Given the description of an element on the screen output the (x, y) to click on. 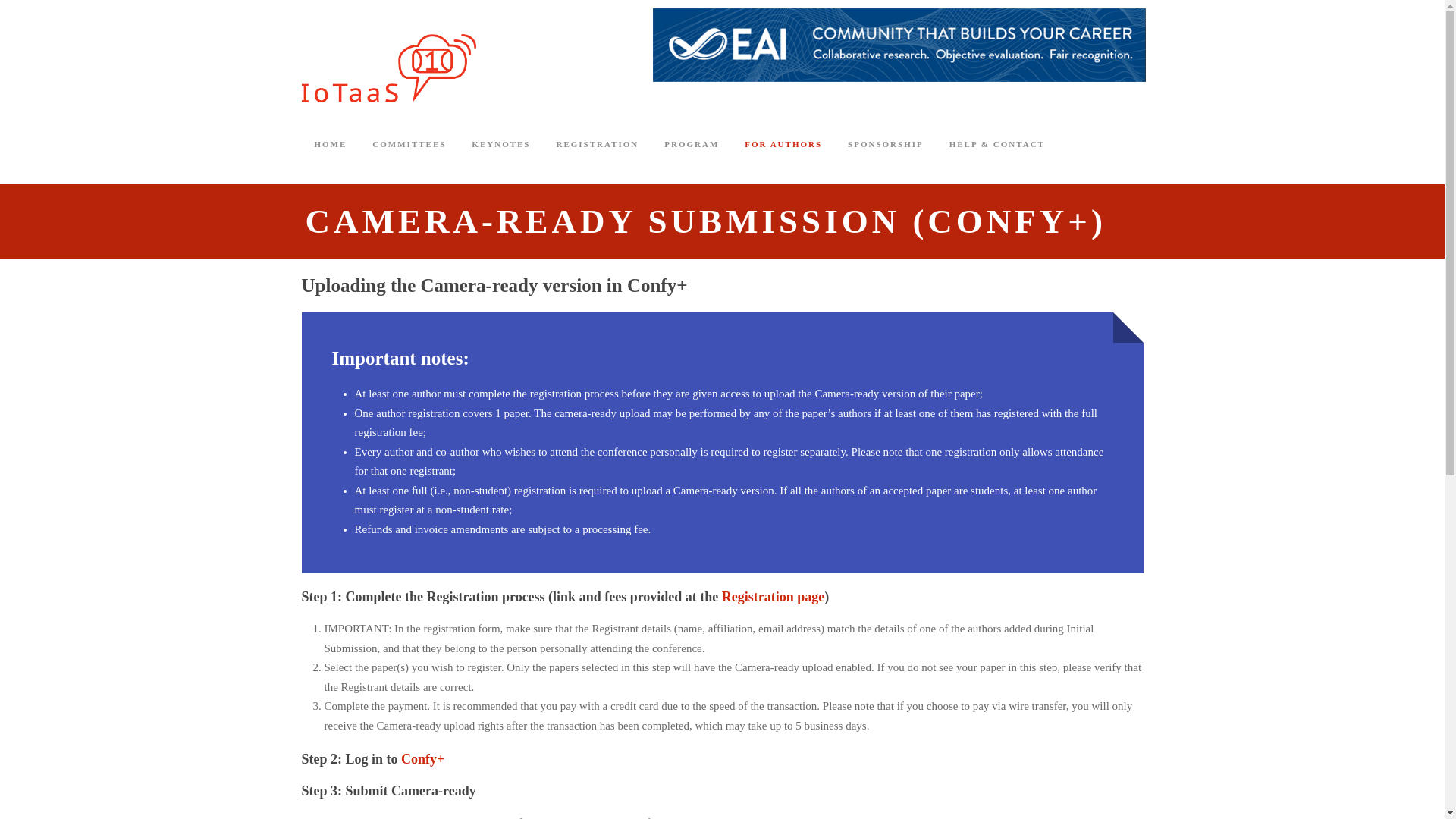
COMMITTEES (408, 158)
KEYNOTES (500, 158)
PROGRAM (691, 158)
REGISTRATION (597, 158)
